Given the description of an element on the screen output the (x, y) to click on. 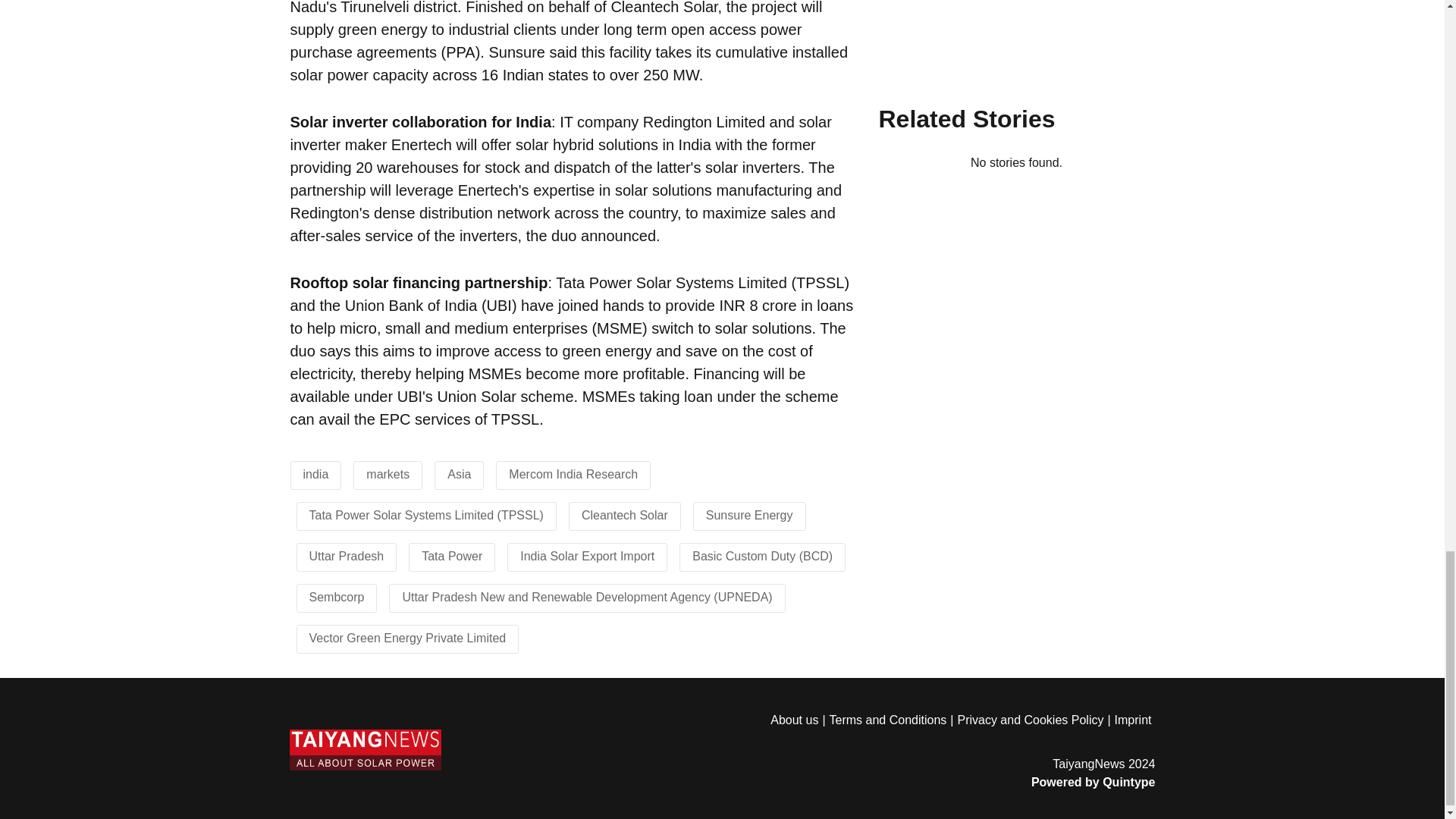
Uttar Pradesh (346, 555)
markets (387, 473)
Cleantech Solar (624, 514)
Mercom India Research (572, 473)
Tata Power (451, 555)
india (315, 473)
Sunsure Energy (749, 514)
India Solar Export Import (586, 555)
Asia (458, 473)
